Given the description of an element on the screen output the (x, y) to click on. 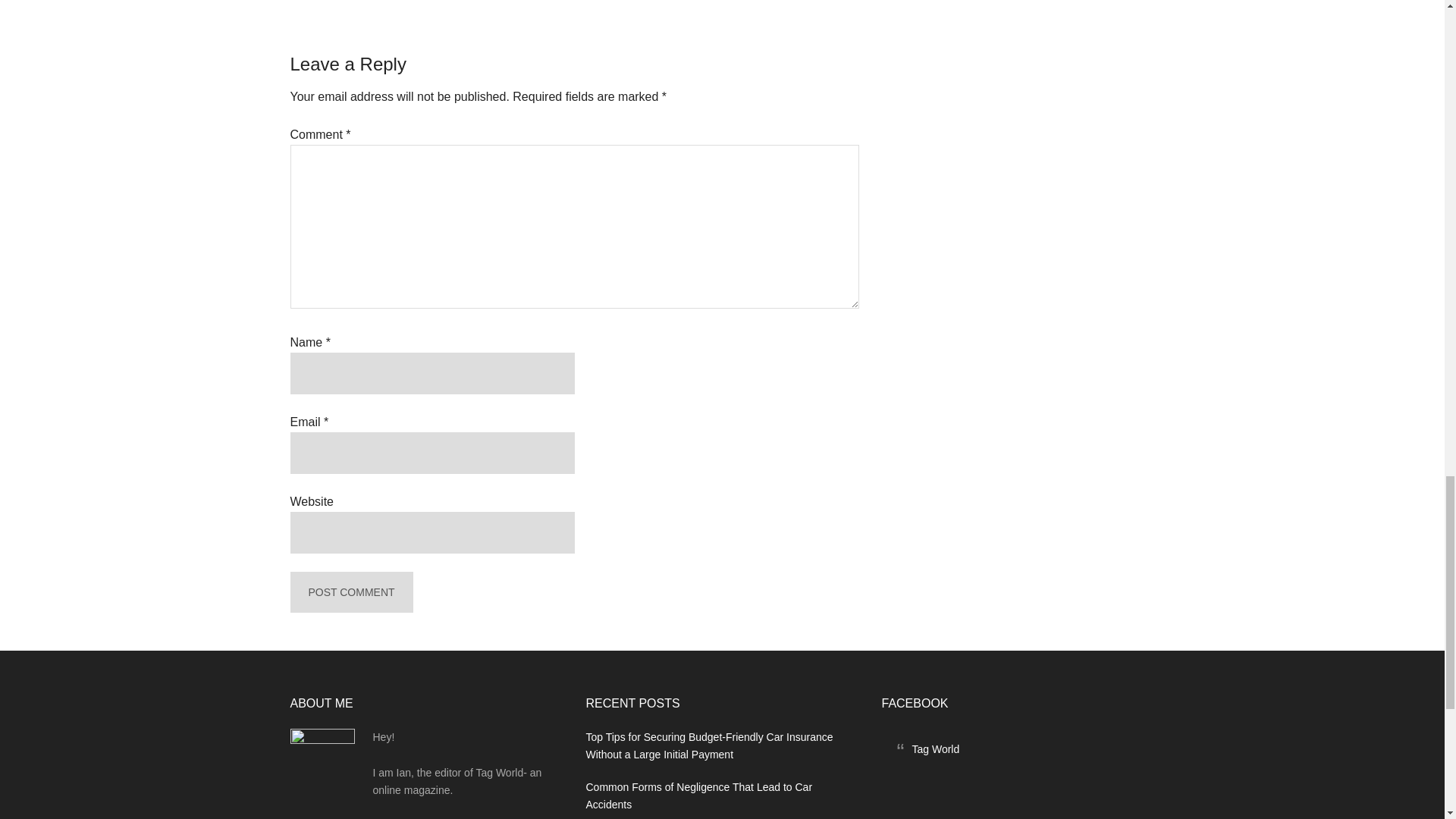
Post Comment (350, 592)
Post Comment (350, 592)
